Given the description of an element on the screen output the (x, y) to click on. 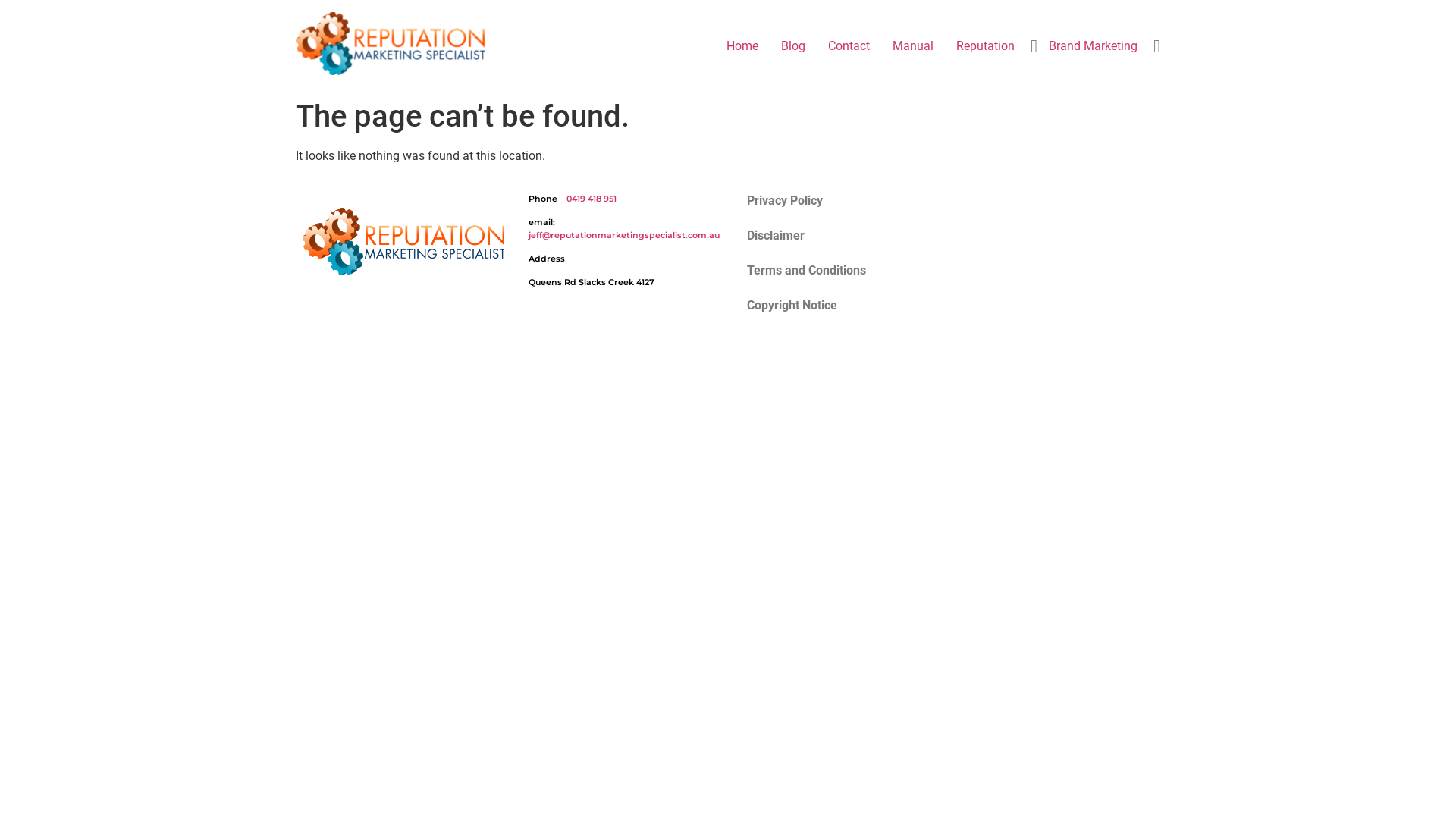
Manual Element type: text (912, 46)
0419 418 951 Element type: text (591, 198)
Queens Rd Slacks Creek 4127 Element type: hover (1051, 297)
Blog Element type: text (792, 46)
Contact Element type: text (848, 46)
Privacy Policy Element type: text (835, 200)
Home Element type: text (742, 46)
Brand Marketing Element type: text (1092, 46)
Copyright Notice Element type: text (835, 305)
Disclaimer Element type: text (835, 235)
Reputation Element type: text (985, 46)
jeff@reputationmarketingspecialist.com.au Element type: text (623, 234)
Terms and Conditions Element type: text (835, 270)
